Given the description of an element on the screen output the (x, y) to click on. 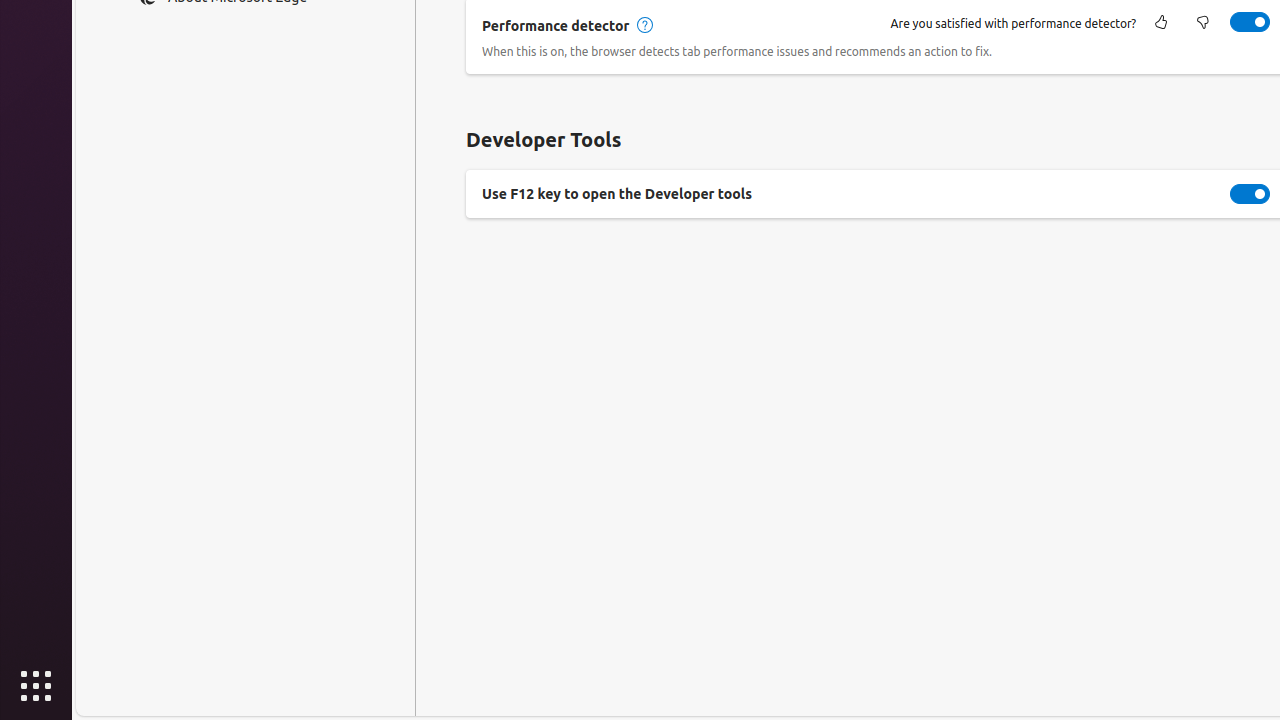
Show Applications Element type: toggle-button (36, 686)
